Given the description of an element on the screen output the (x, y) to click on. 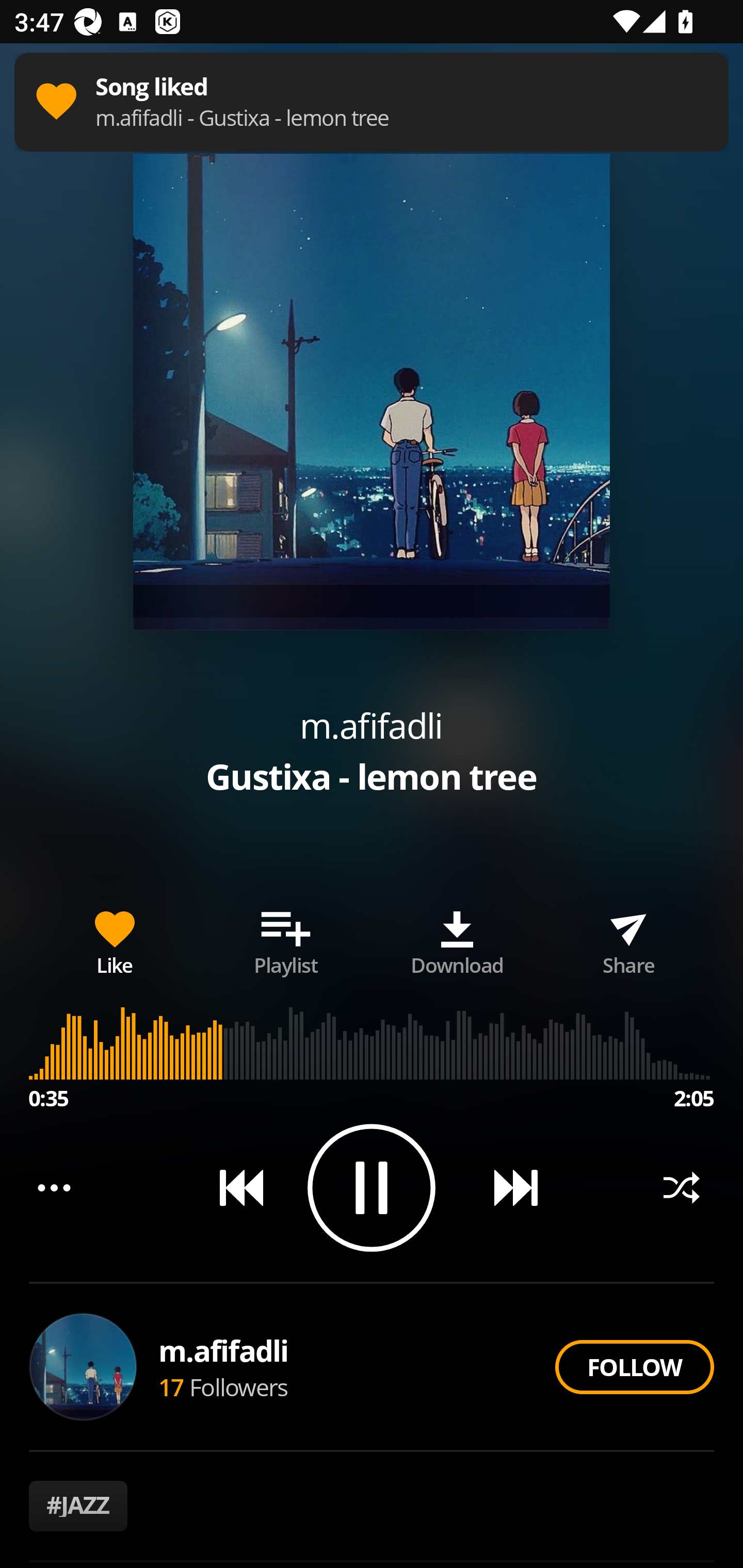
Minimise player (49, 93)
Album art (371, 391)
m.afifadli (370, 724)
Like (113, 939)
Add song to playlist Playlist (285, 939)
Download (457, 939)
Share (628, 939)
Play/Pause (371, 1187)
Previous song (233, 1187)
Next song (508, 1187)
m.afifadli (224, 1350)
FOLLOW Follow (634, 1366)
17 (171, 1386)
#JAZZ (77, 1505)
